Given the description of an element on the screen output the (x, y) to click on. 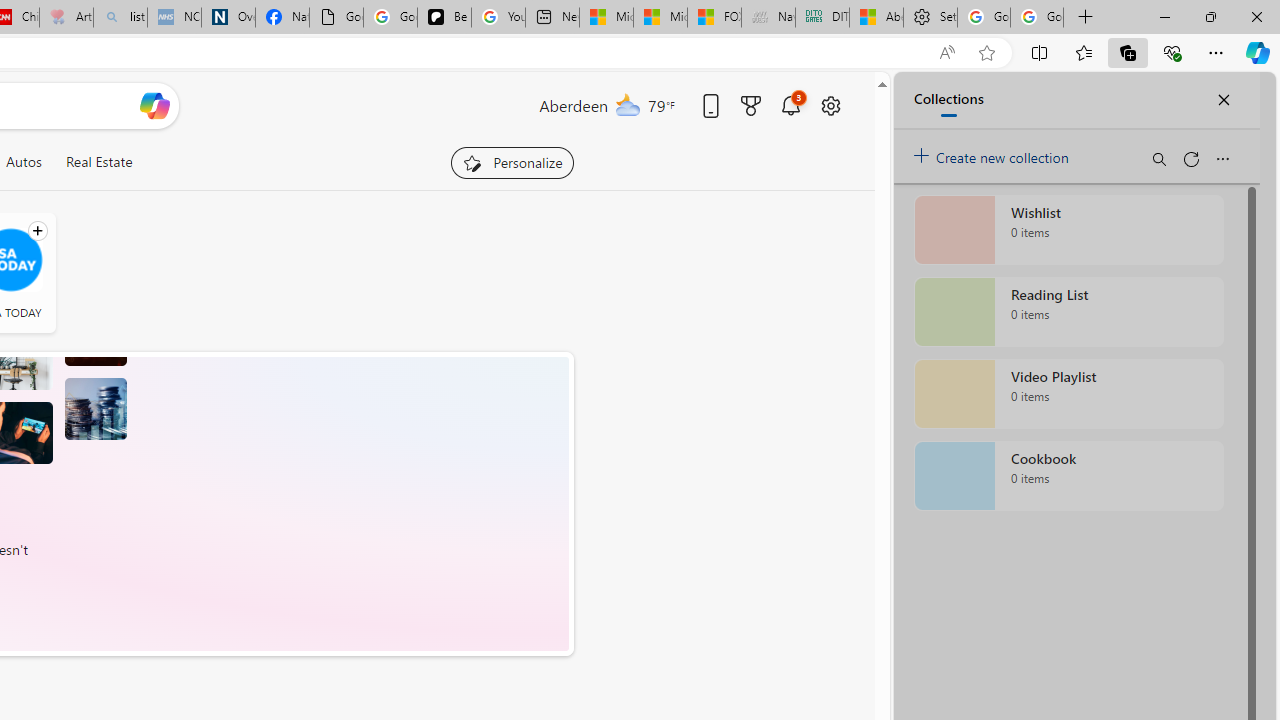
Microsoft rewards (749, 105)
Autos (23, 161)
Be Smart | creating Science videos | Patreon (444, 17)
Navy Quest (768, 17)
Aberdeen, Hong Kong SAR hourly forecast | Microsoft Weather (875, 17)
